Given the description of an element on the screen output the (x, y) to click on. 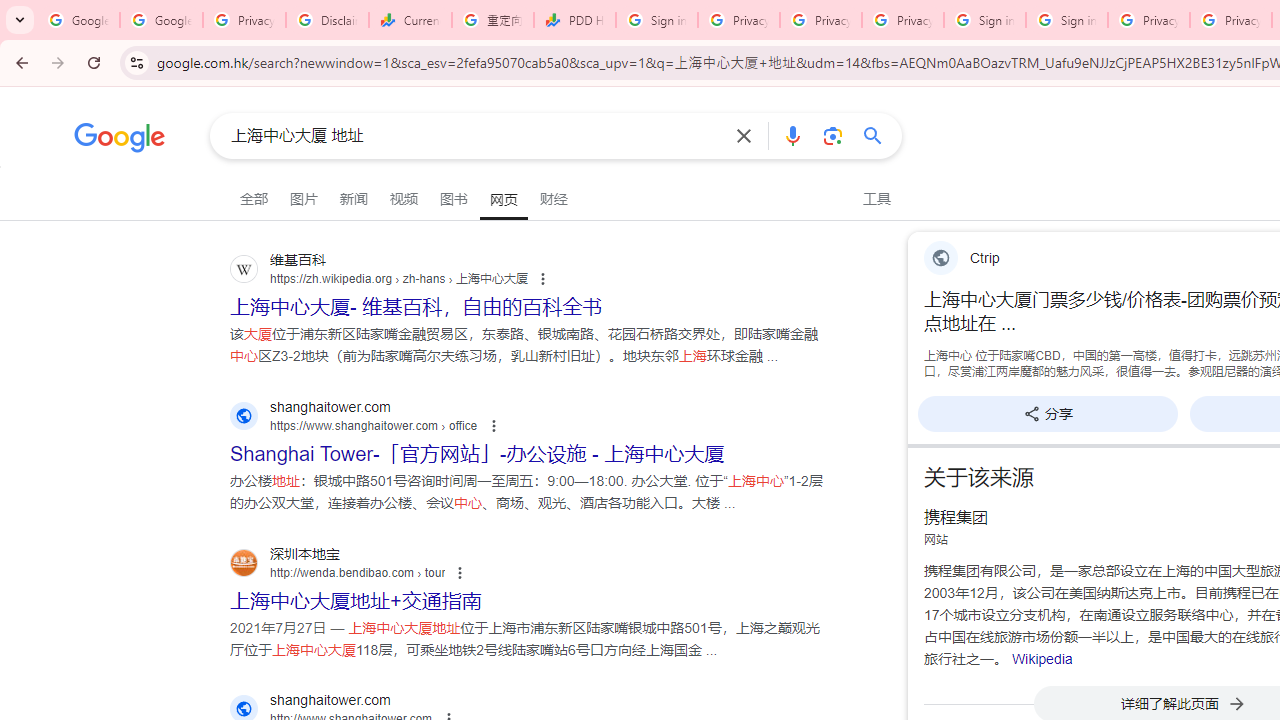
Privacy Checkup (820, 20)
Currencies - Google Finance (409, 20)
Sign in - Google Accounts (1067, 20)
Sign in - Google Accounts (984, 20)
Sign in - Google Accounts (656, 20)
